Given the description of an element on the screen output the (x, y) to click on. 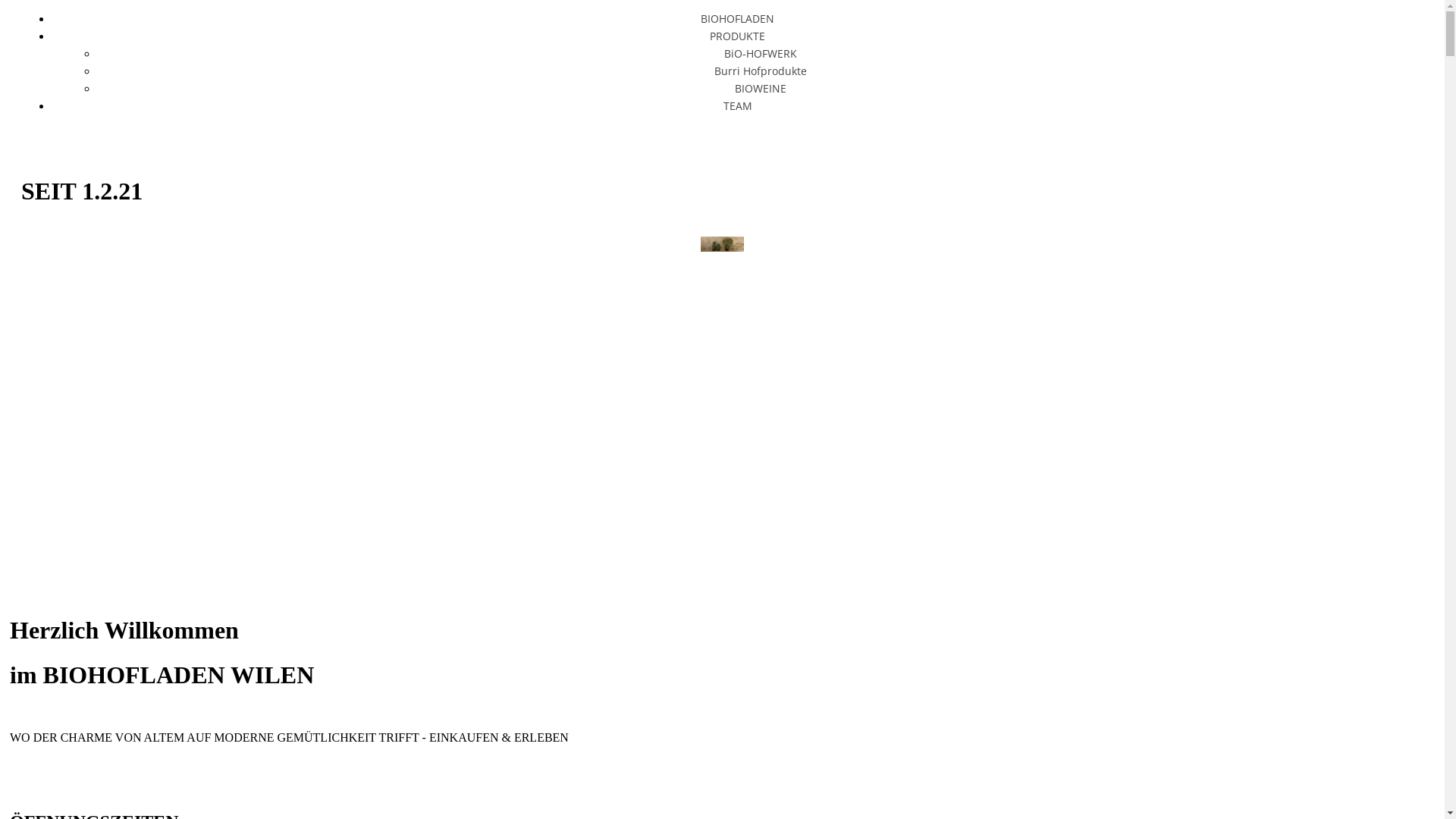
BIOHOFLADEN Element type: text (744, 18)
BiO-HOFWERK Element type: text (767, 53)
Burri Hofprodukte Element type: text (768, 70)
BIOWEINE Element type: text (767, 88)
PRODUKTE Element type: text (744, 35)
TEAM Element type: text (745, 105)
